Given the description of an element on the screen output the (x, y) to click on. 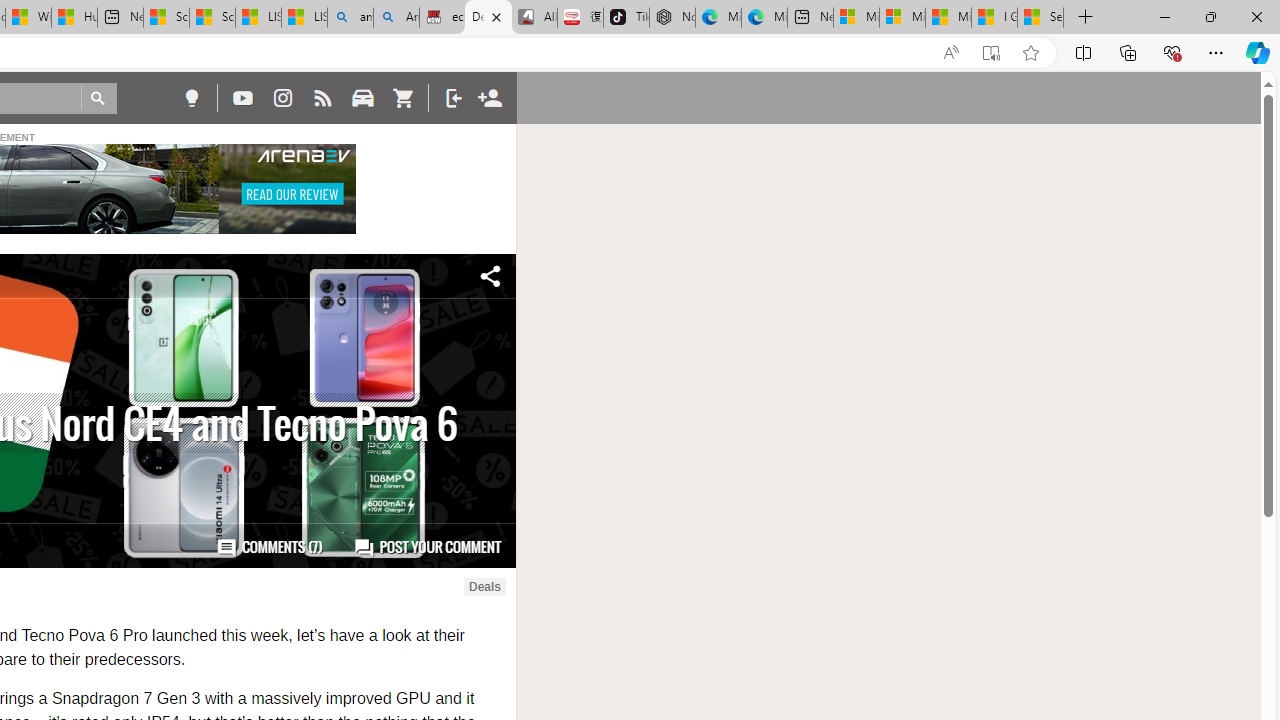
Amazon Echo Dot PNG - Search Images (395, 17)
Nordace - Best Sellers (672, 17)
TikTok (626, 17)
